Given the description of an element on the screen output the (x, y) to click on. 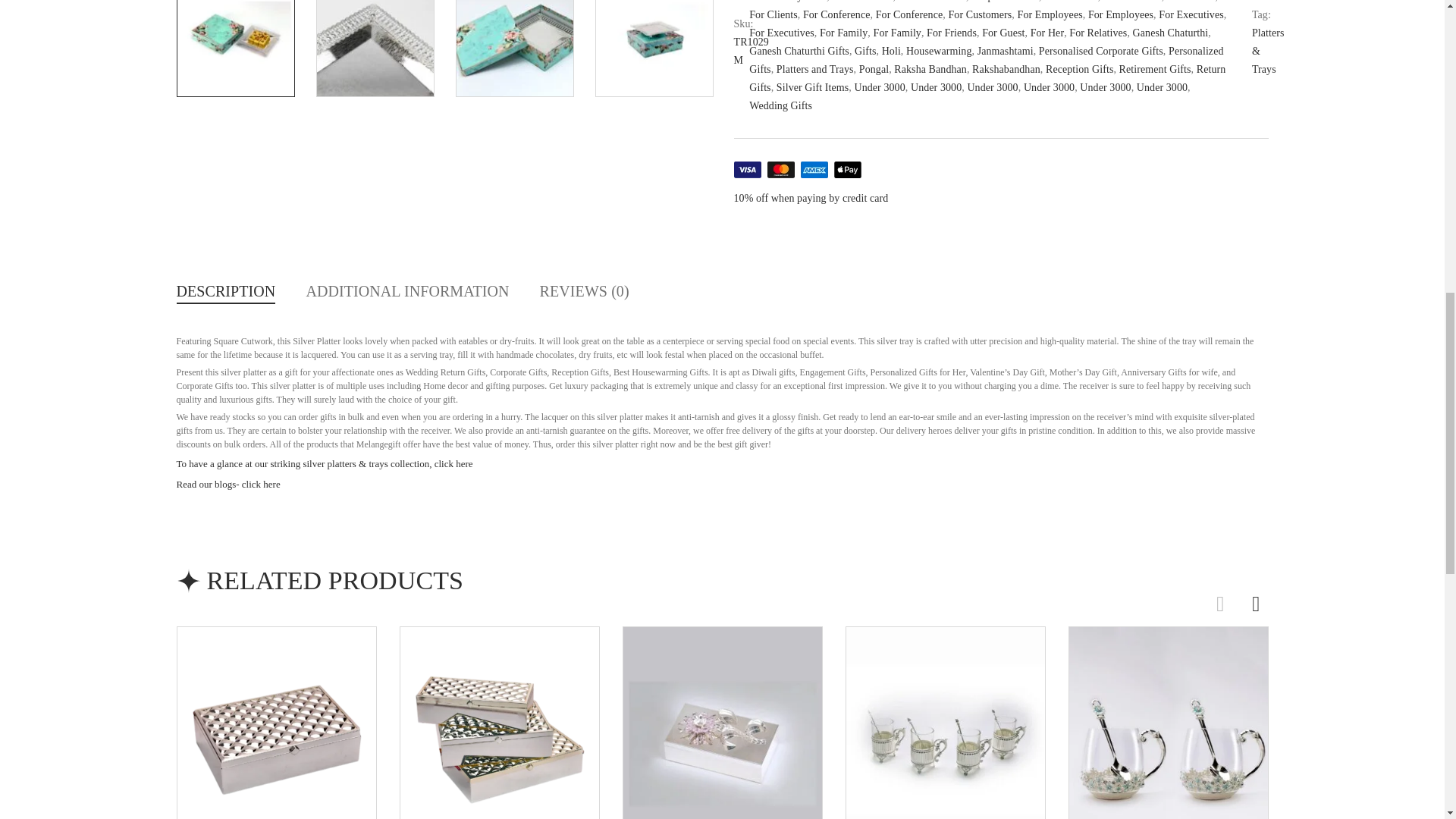
TR1029-1.jpg (374, 48)
TR1029.jpg (234, 48)
TR1029-2-1.jpg (513, 48)
TR1029-2.jpg (653, 48)
